Given the description of an element on the screen output the (x, y) to click on. 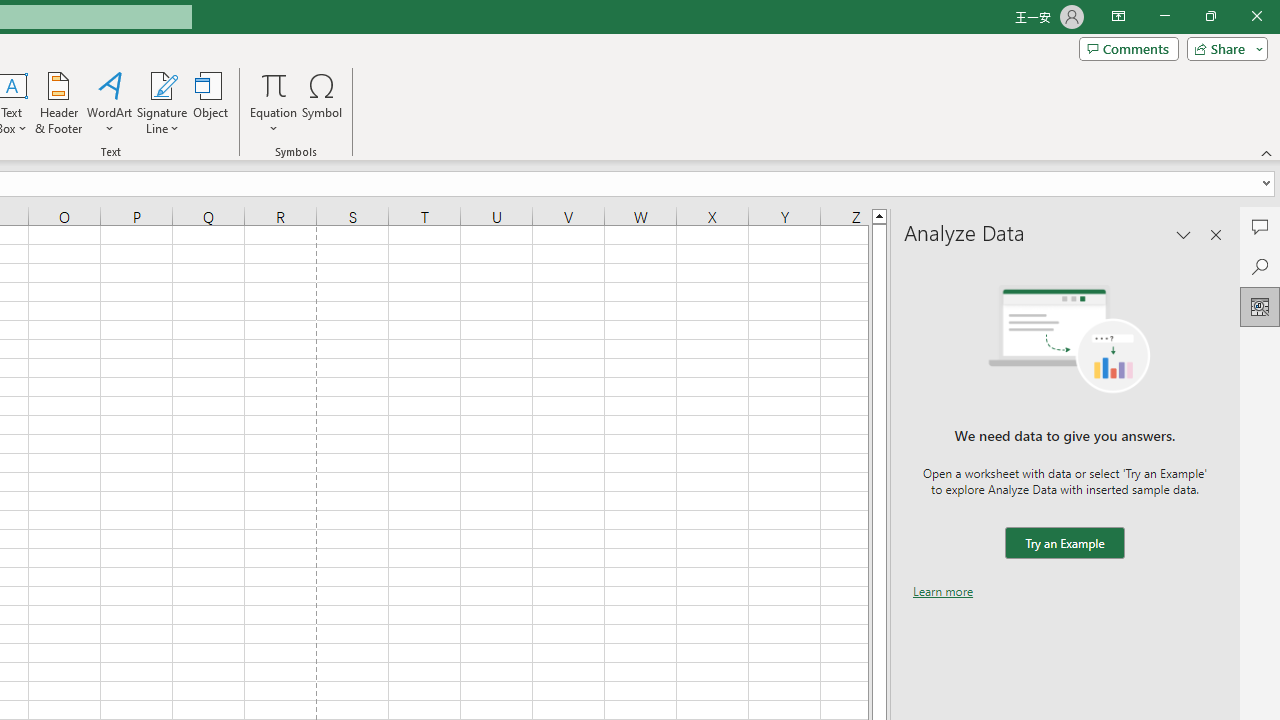
Signature Line (161, 84)
WordArt (109, 102)
Search (1260, 266)
Object... (210, 102)
